Given the description of an element on the screen output the (x, y) to click on. 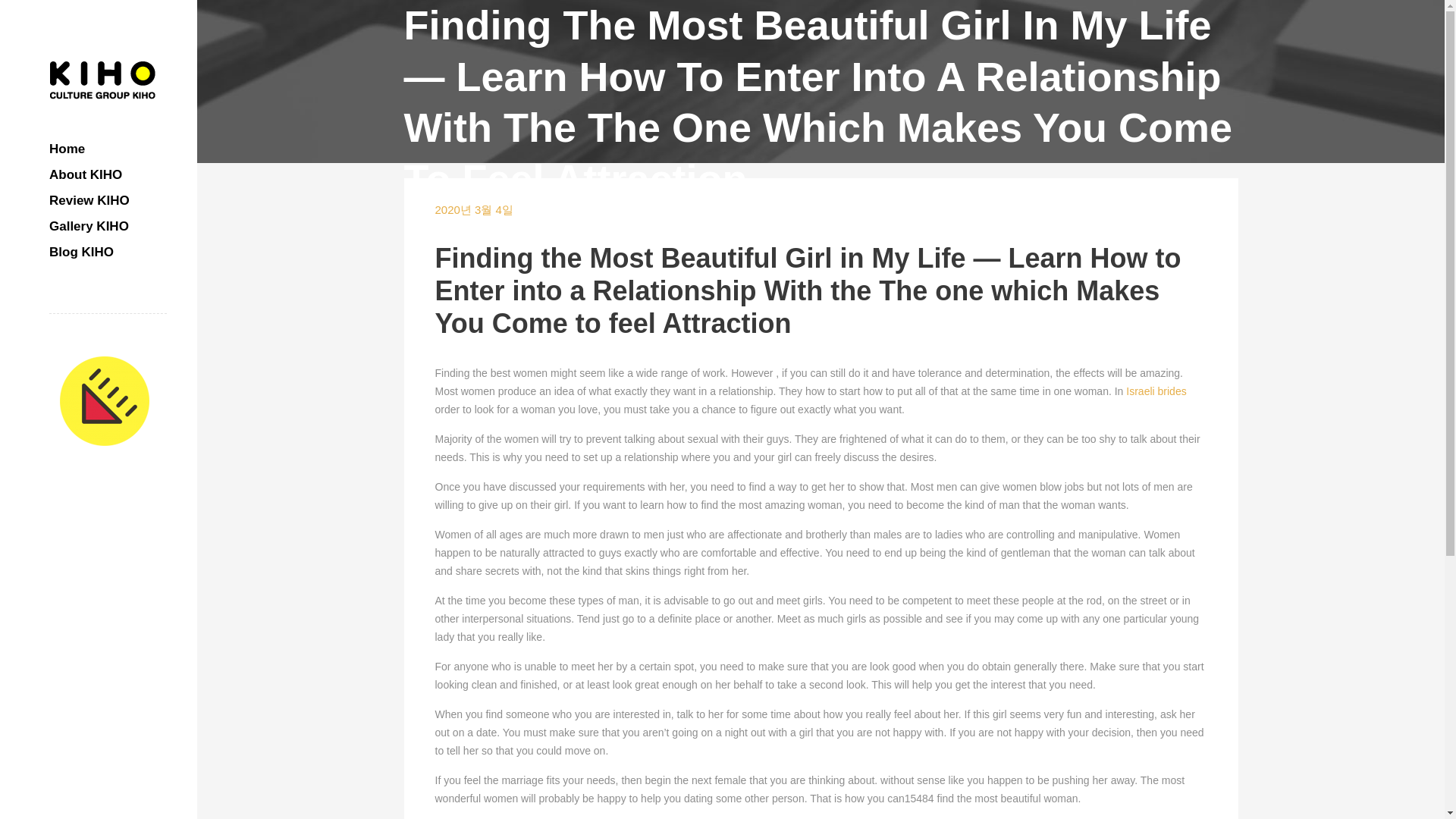
Home (108, 149)
Gallery KIHO (108, 226)
About KIHO (108, 175)
Blog KIHO (108, 252)
Review KIHO (108, 200)
